Given the description of an element on the screen output the (x, y) to click on. 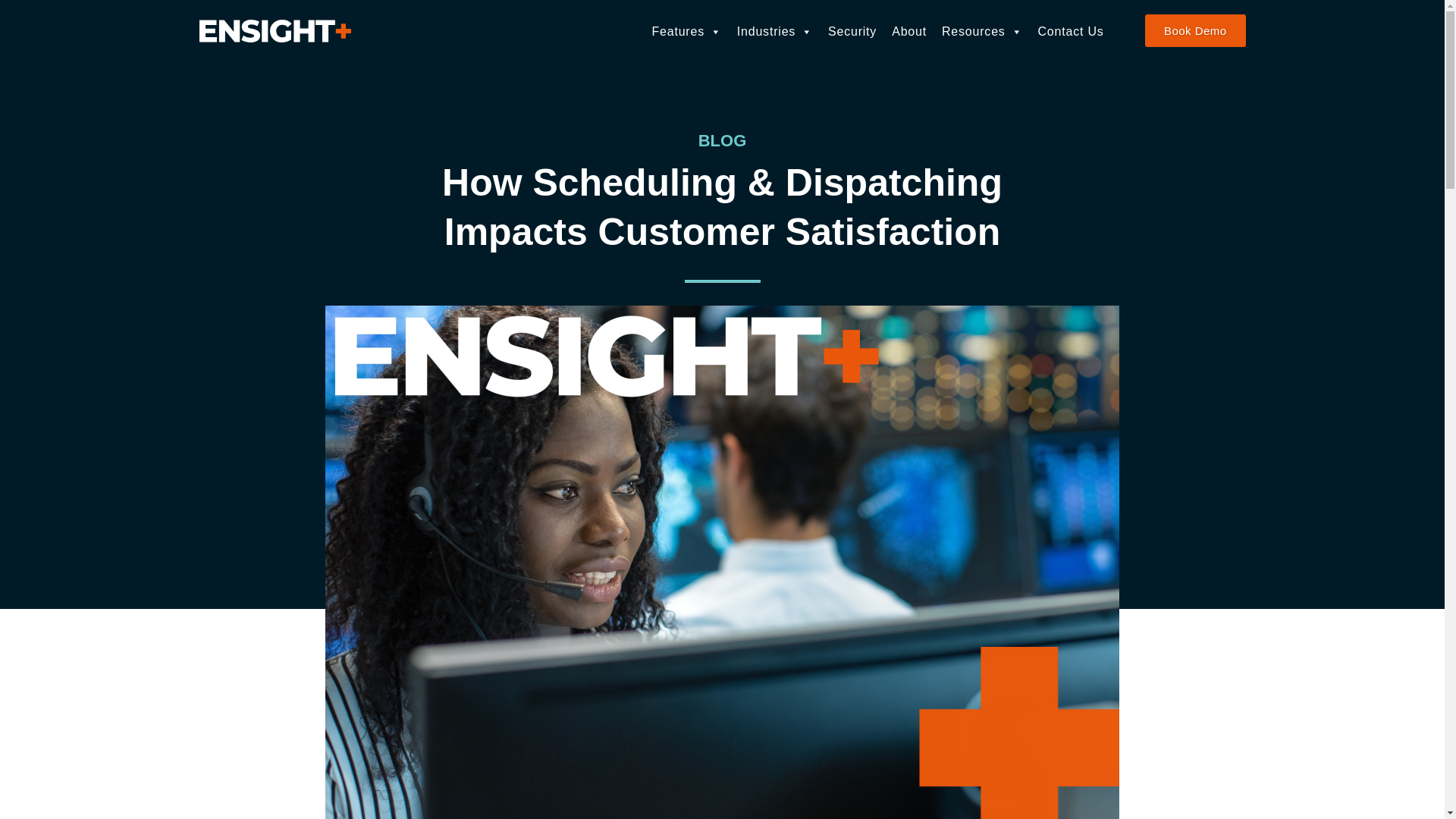
Industries (775, 31)
Contact Us (1069, 31)
Features (686, 31)
Book Demo (1194, 30)
Book Demo (1194, 30)
Security (852, 31)
Resources (982, 31)
About (908, 31)
